Given the description of an element on the screen output the (x, y) to click on. 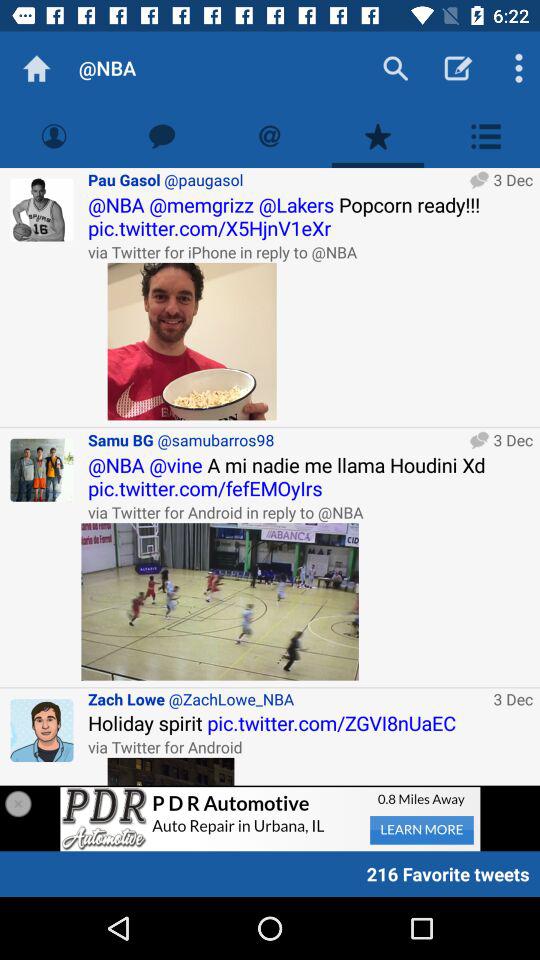
return to home page (36, 68)
